Given the description of an element on the screen output the (x, y) to click on. 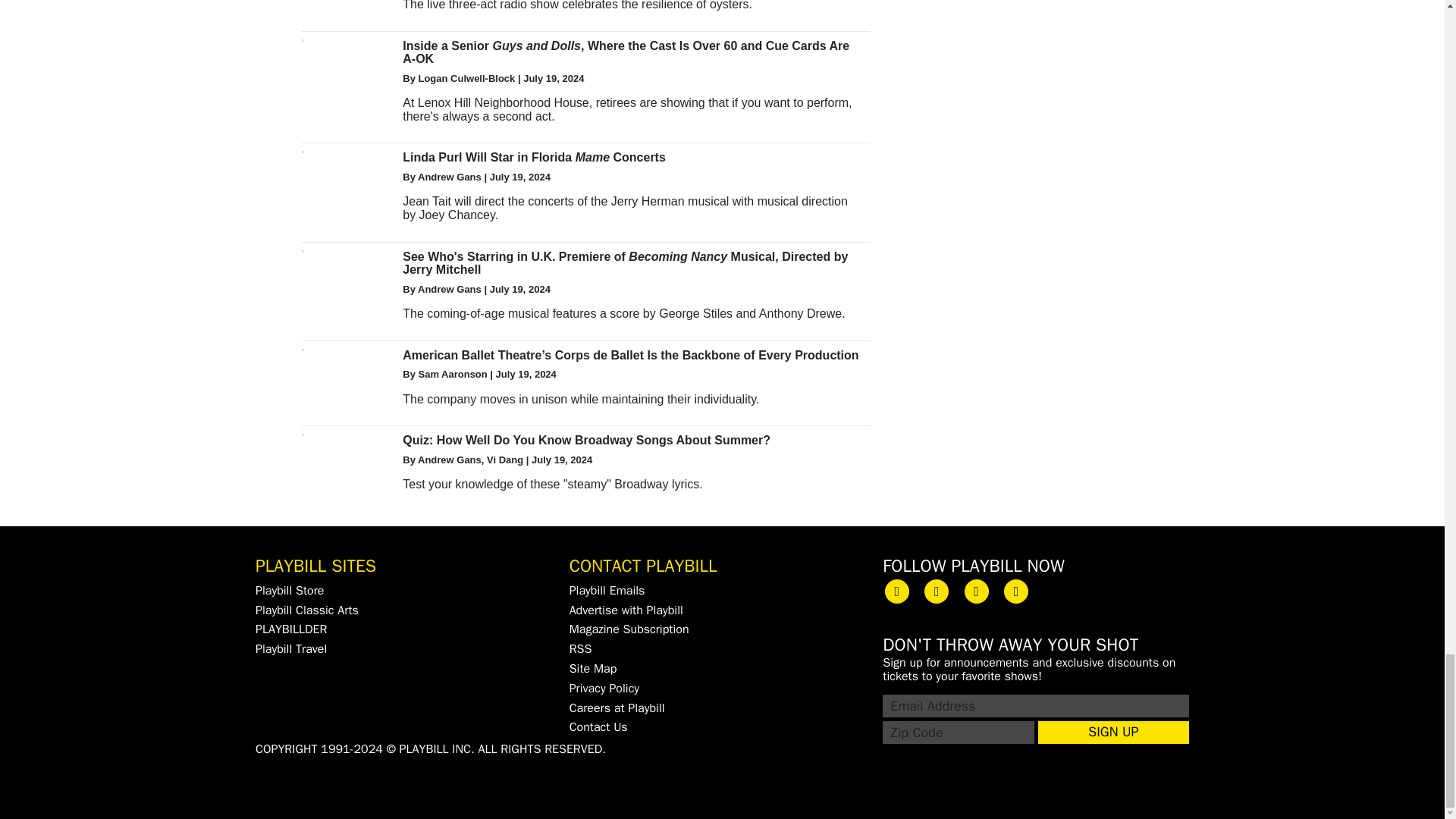
Sign Up (1113, 732)
